Given the description of an element on the screen output the (x, y) to click on. 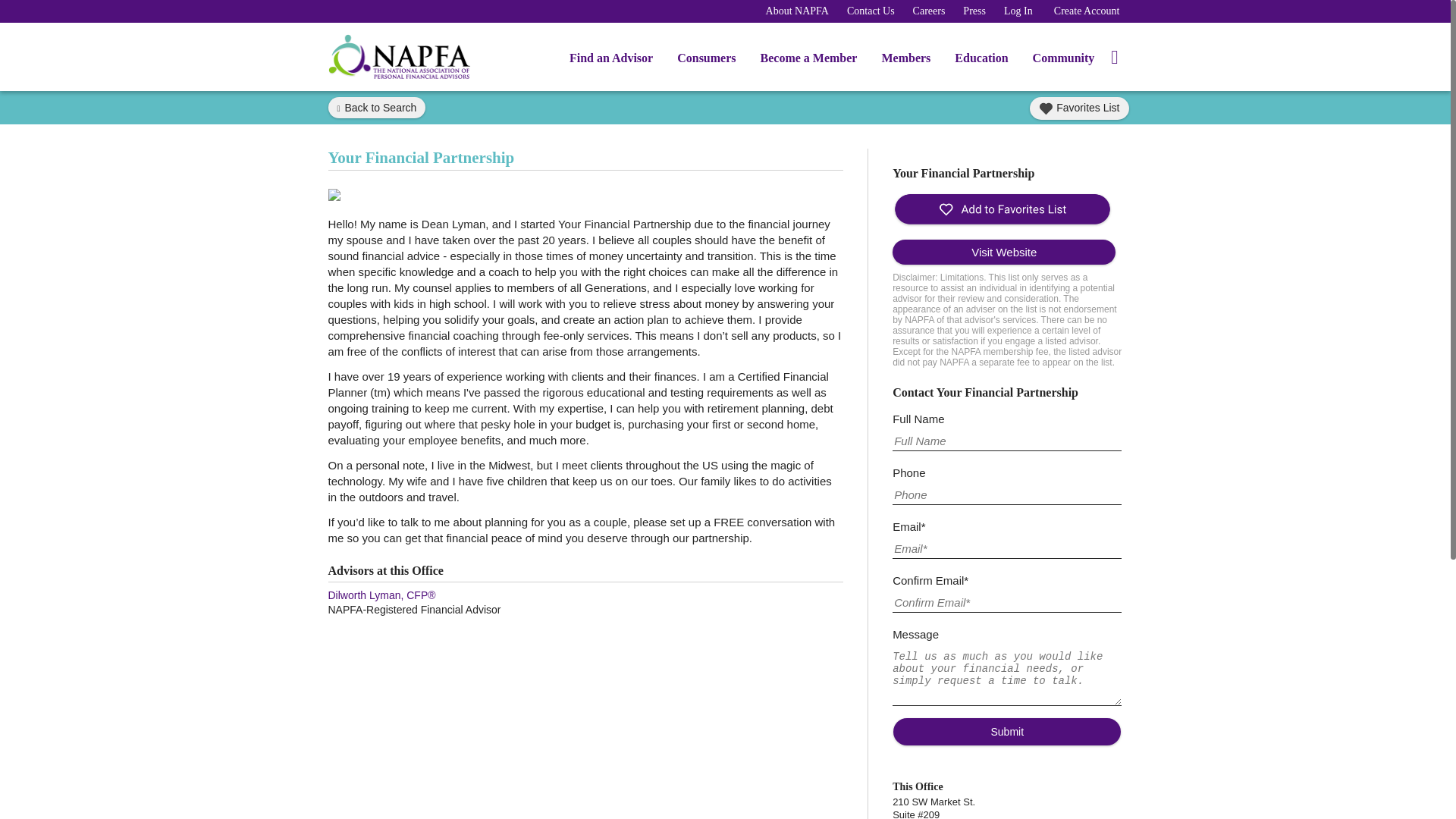
Create Account (1086, 10)
Careers (928, 10)
Consumers (706, 60)
About NAPFA (796, 10)
Contact Us (871, 10)
Members (905, 60)
Become a Member (808, 60)
Find an Advisor (611, 60)
Education (981, 60)
Press (973, 10)
